Given the description of an element on the screen output the (x, y) to click on. 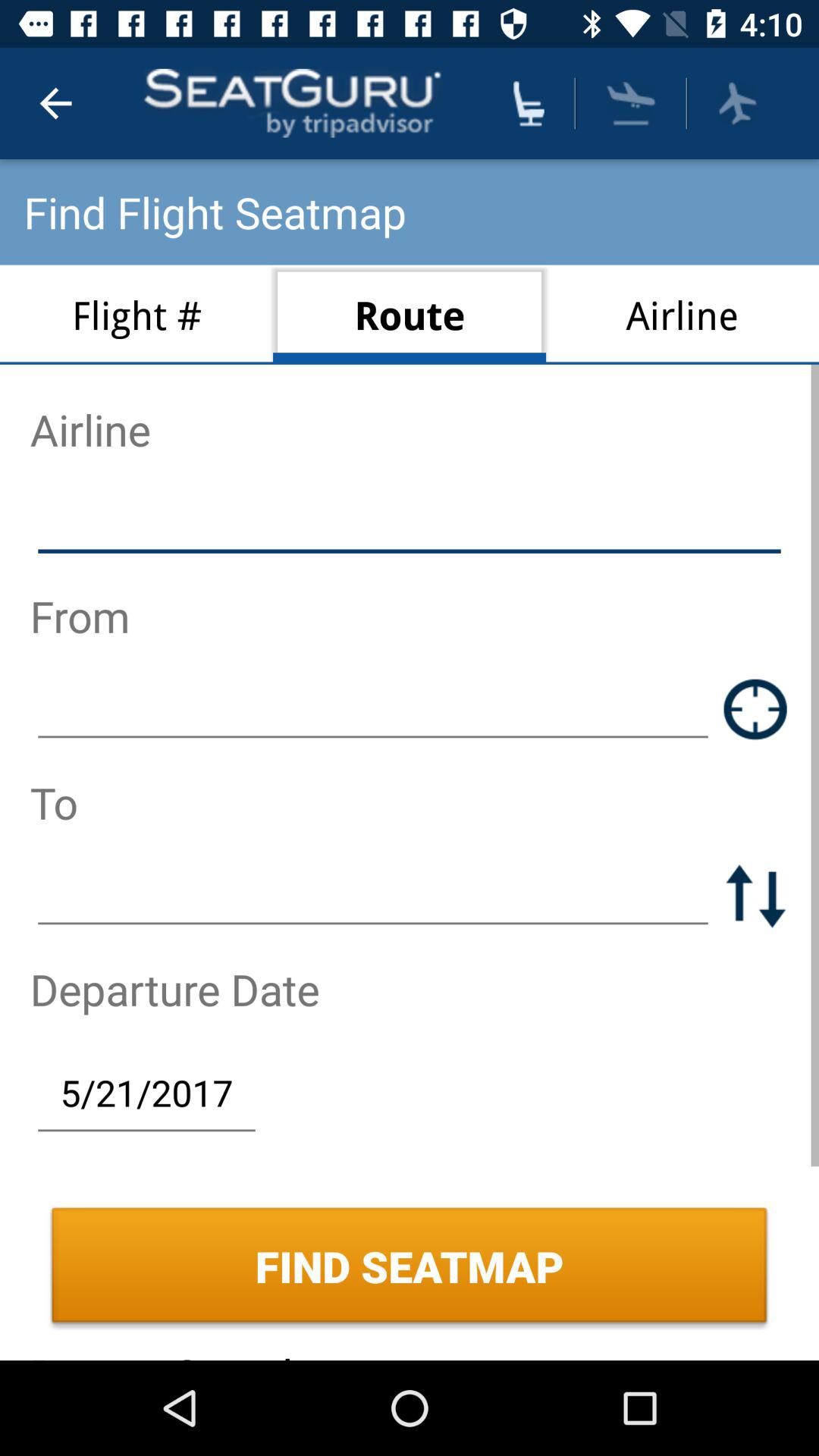
select the route (409, 314)
